Given the description of an element on the screen output the (x, y) to click on. 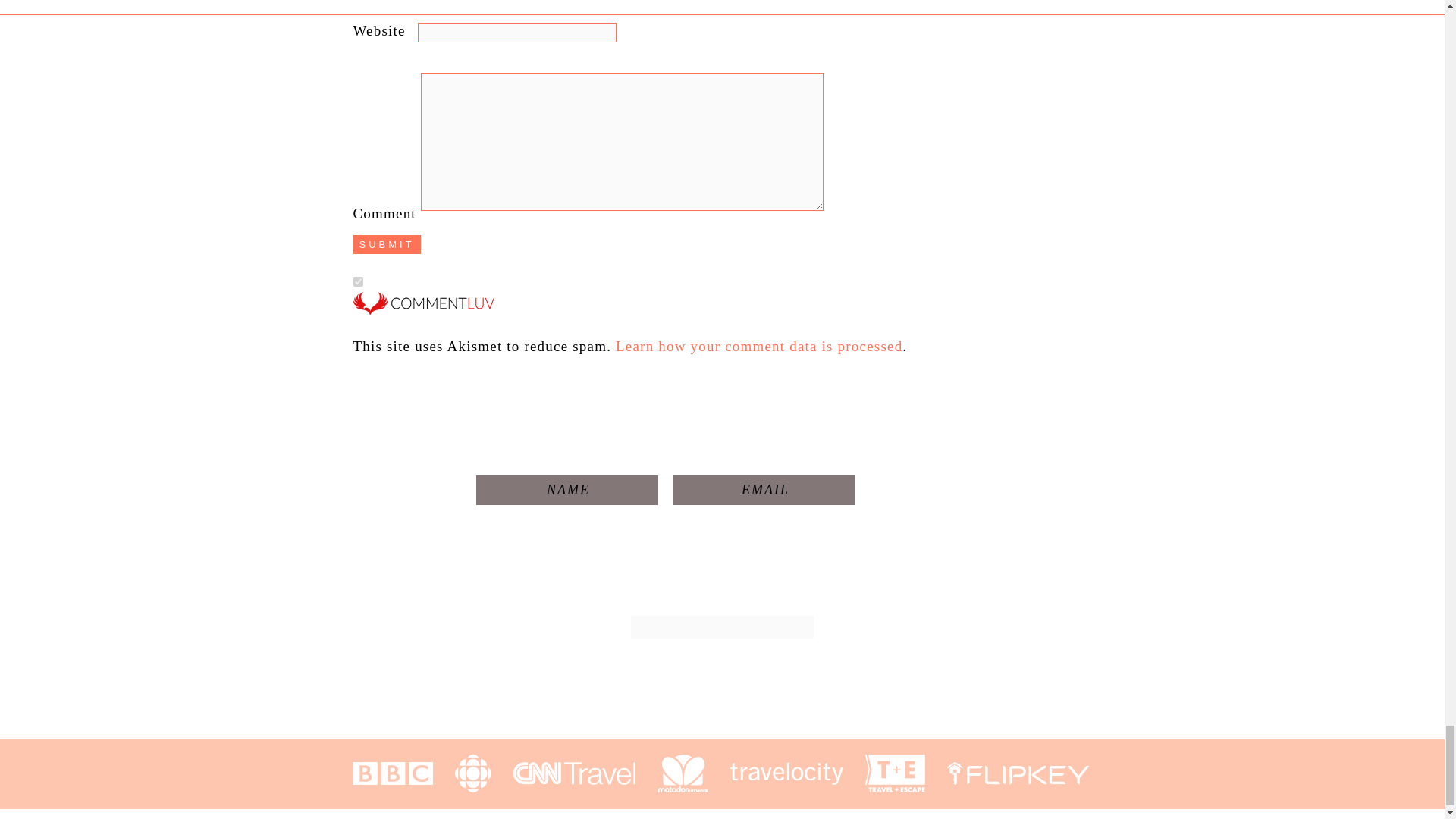
on (357, 281)
Submit (386, 244)
